Given the description of an element on the screen output the (x, y) to click on. 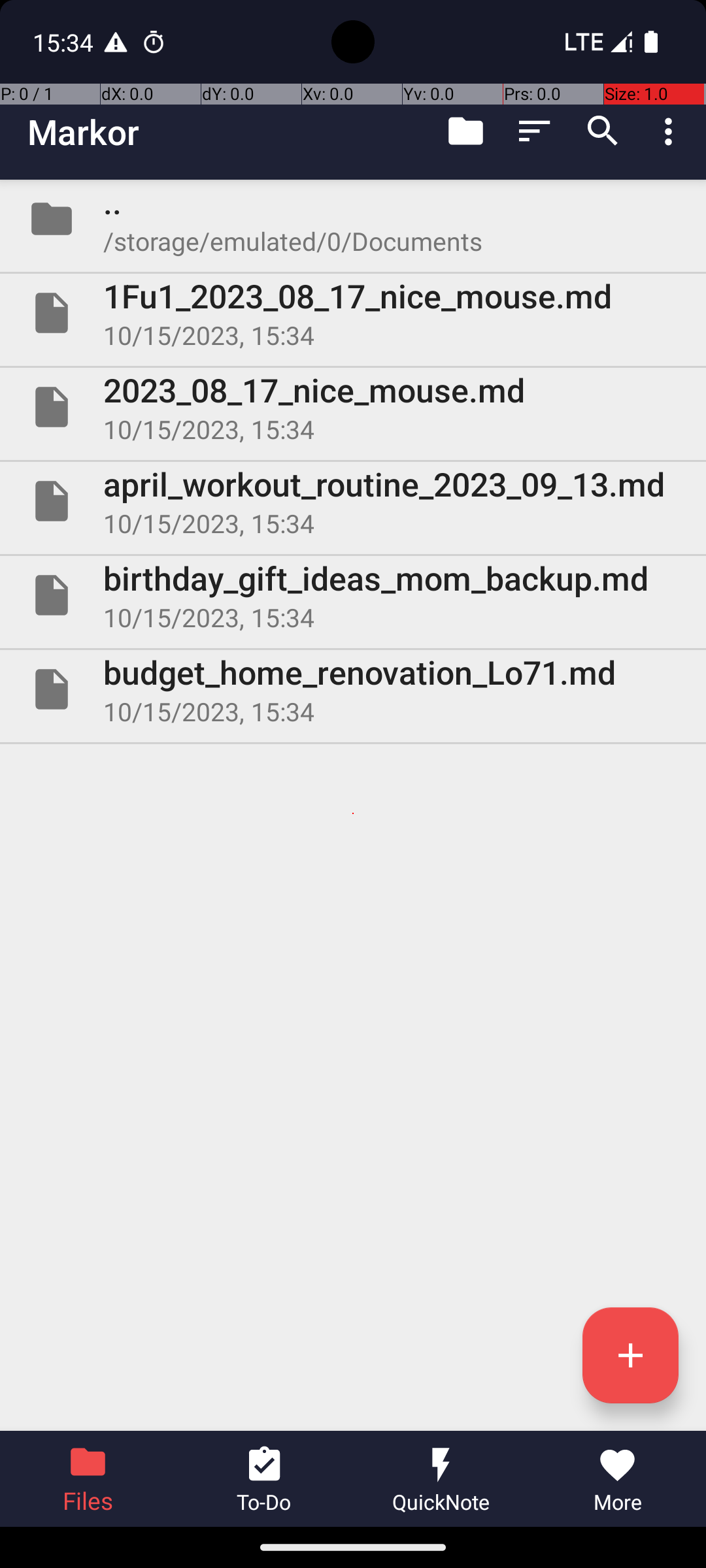
Create a new file or folder Element type: android.widget.ImageButton (630, 1355)
Go to Element type: android.widget.TextView (465, 131)
Folder ..  Element type: android.widget.LinearLayout (353, 218)
File 1Fu1_2023_08_17_nice_mouse.md  Element type: android.widget.LinearLayout (353, 312)
File 2023_08_17_nice_mouse.md  Element type: android.widget.LinearLayout (353, 406)
File april_workout_routine_2023_09_13.md  Element type: android.widget.LinearLayout (353, 500)
File birthday_gift_ideas_mom_backup.md  Element type: android.widget.LinearLayout (353, 594)
File budget_home_renovation_Lo71.md  Element type: android.widget.LinearLayout (353, 689)
